Given the description of an element on the screen output the (x, y) to click on. 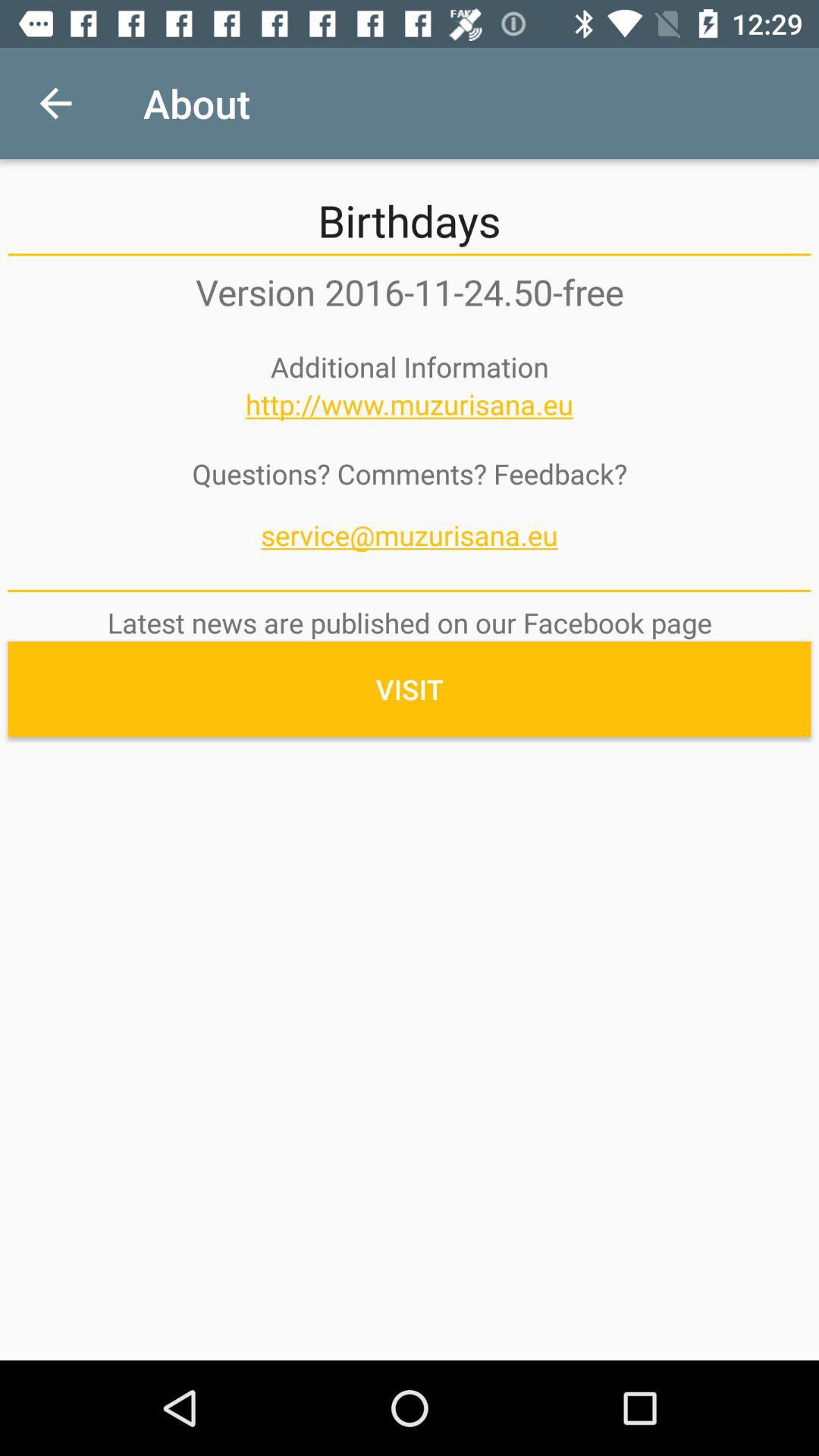
open icon above the birthdays item (55, 103)
